Given the description of an element on the screen output the (x, y) to click on. 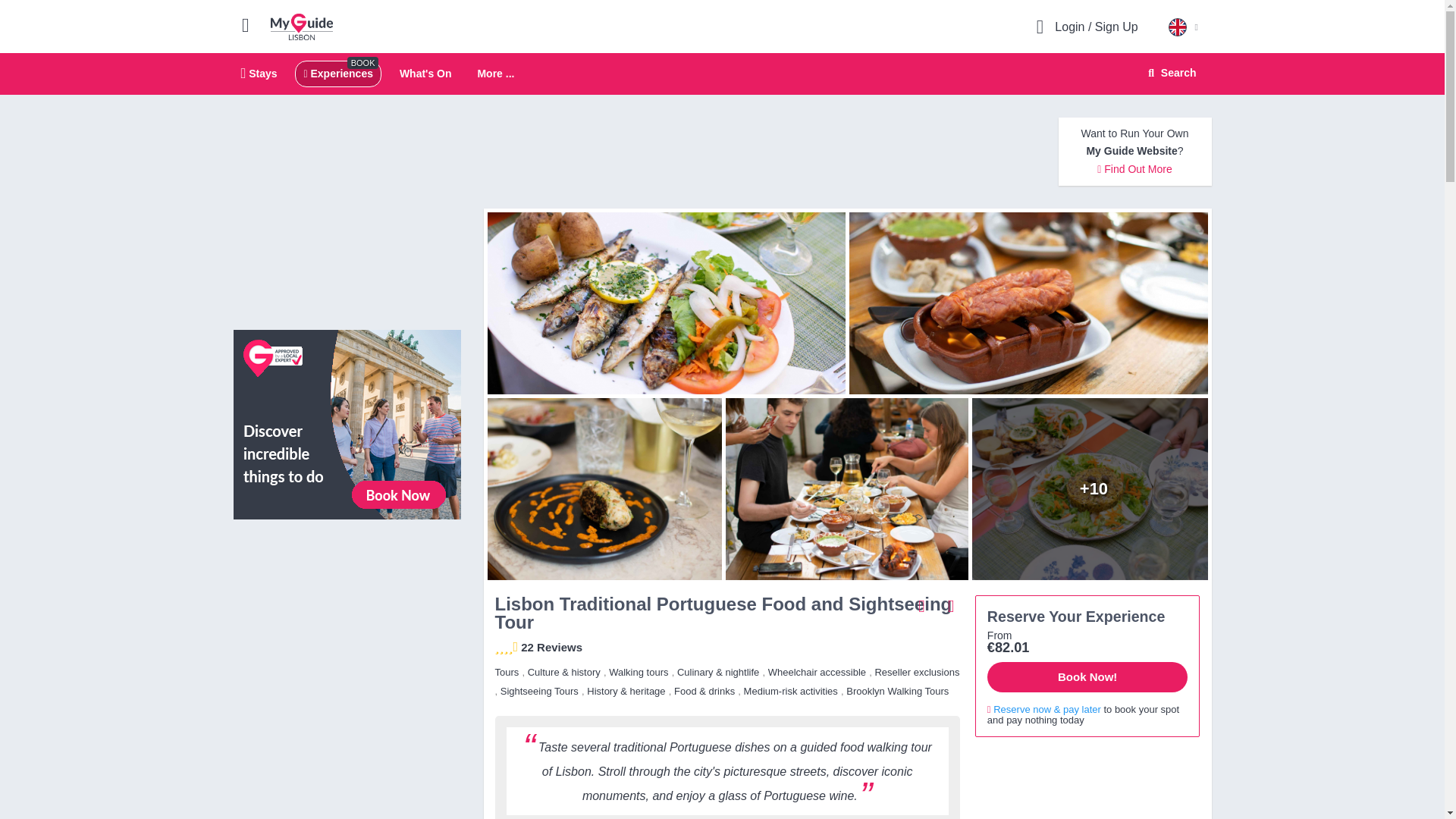
Lisbon Traditional Portuguese Food and Sightseeing Tour (1031, 302)
What's On (424, 73)
Lisbon Traditional Portuguese Food and Sightseeing Tour (721, 74)
GetYourGuide Widget (846, 488)
Lisbon Traditional Portuguese Food and Sightseeing Tour (1087, 783)
My Guide Lisbon (600, 488)
GetYourGuide Widget (301, 25)
Experiences (346, 599)
Lisbon Traditional Portuguese Food and Sightseeing Tour (337, 73)
Lisbon Traditional Portuguese Food and Sightseeing Tour (662, 302)
More ... (1093, 488)
Search (495, 73)
Stays (1169, 72)
